Given the description of an element on the screen output the (x, y) to click on. 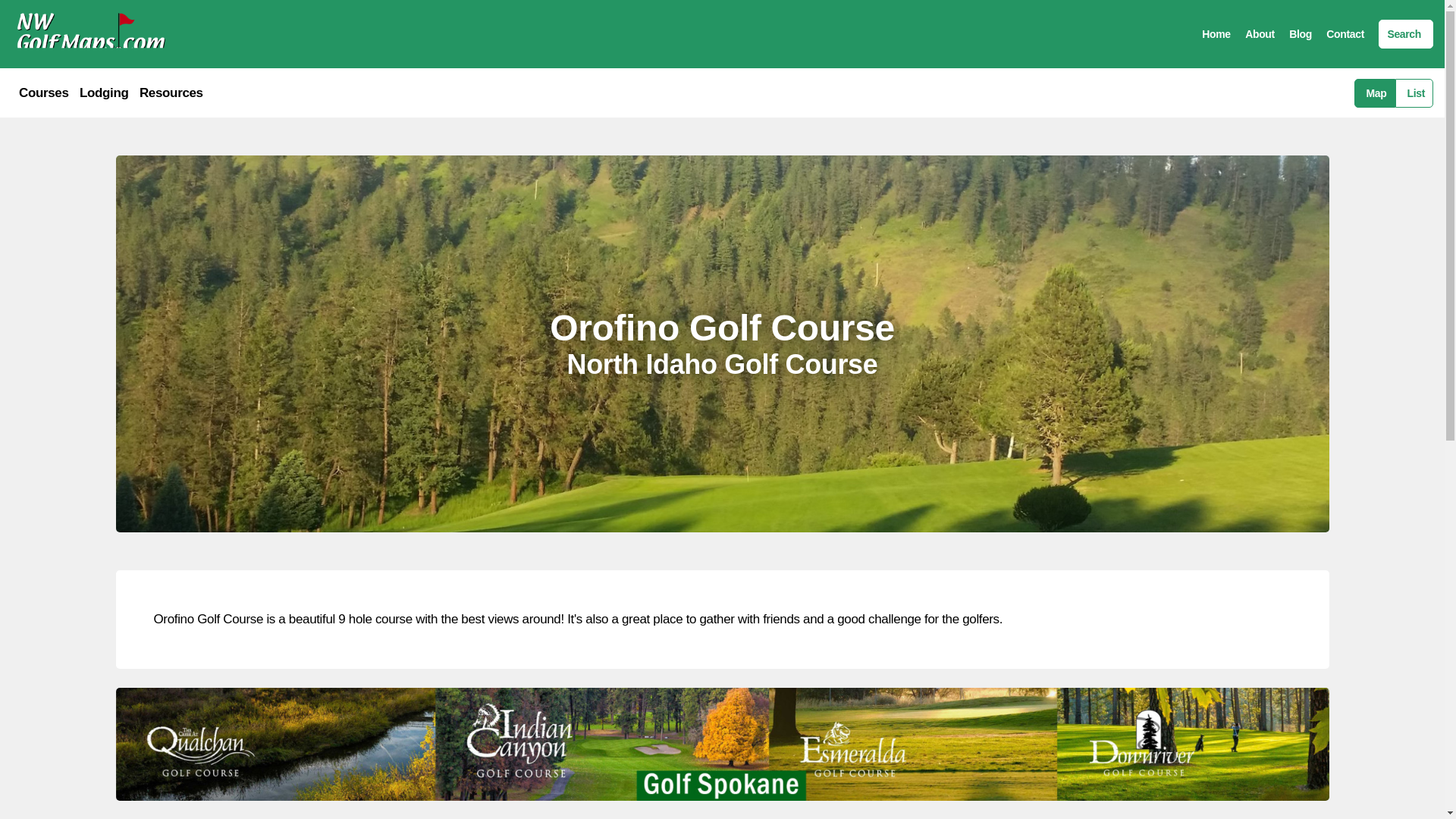
Search (1405, 33)
Blog (1299, 33)
Home (1216, 33)
Lodging (104, 92)
About (1259, 33)
Resources (171, 92)
Contact (1345, 33)
Map (1374, 92)
List (1414, 92)
Courses (43, 92)
